Given the description of an element on the screen output the (x, y) to click on. 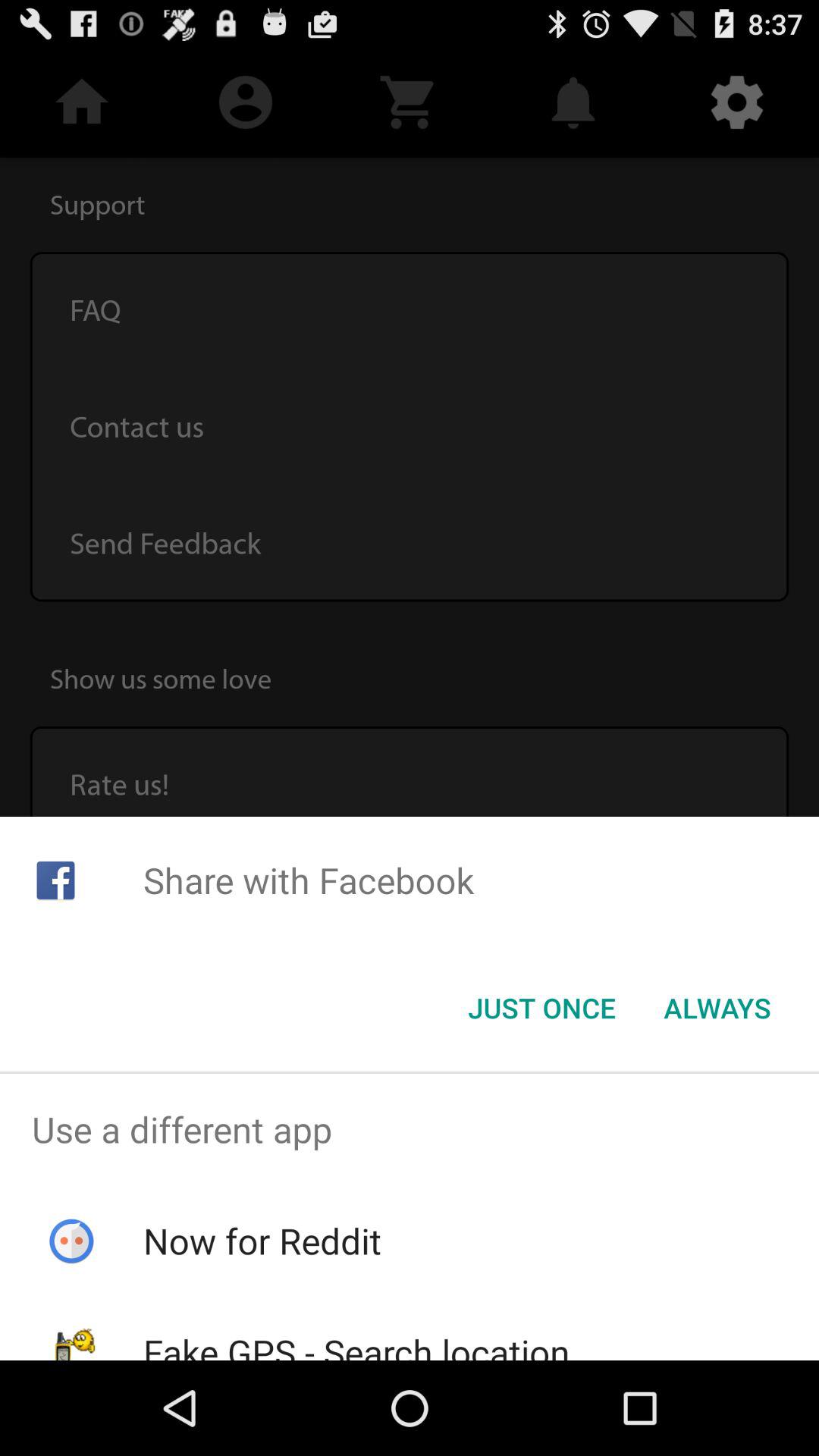
select icon above the fake gps search item (262, 1240)
